Given the description of an element on the screen output the (x, y) to click on. 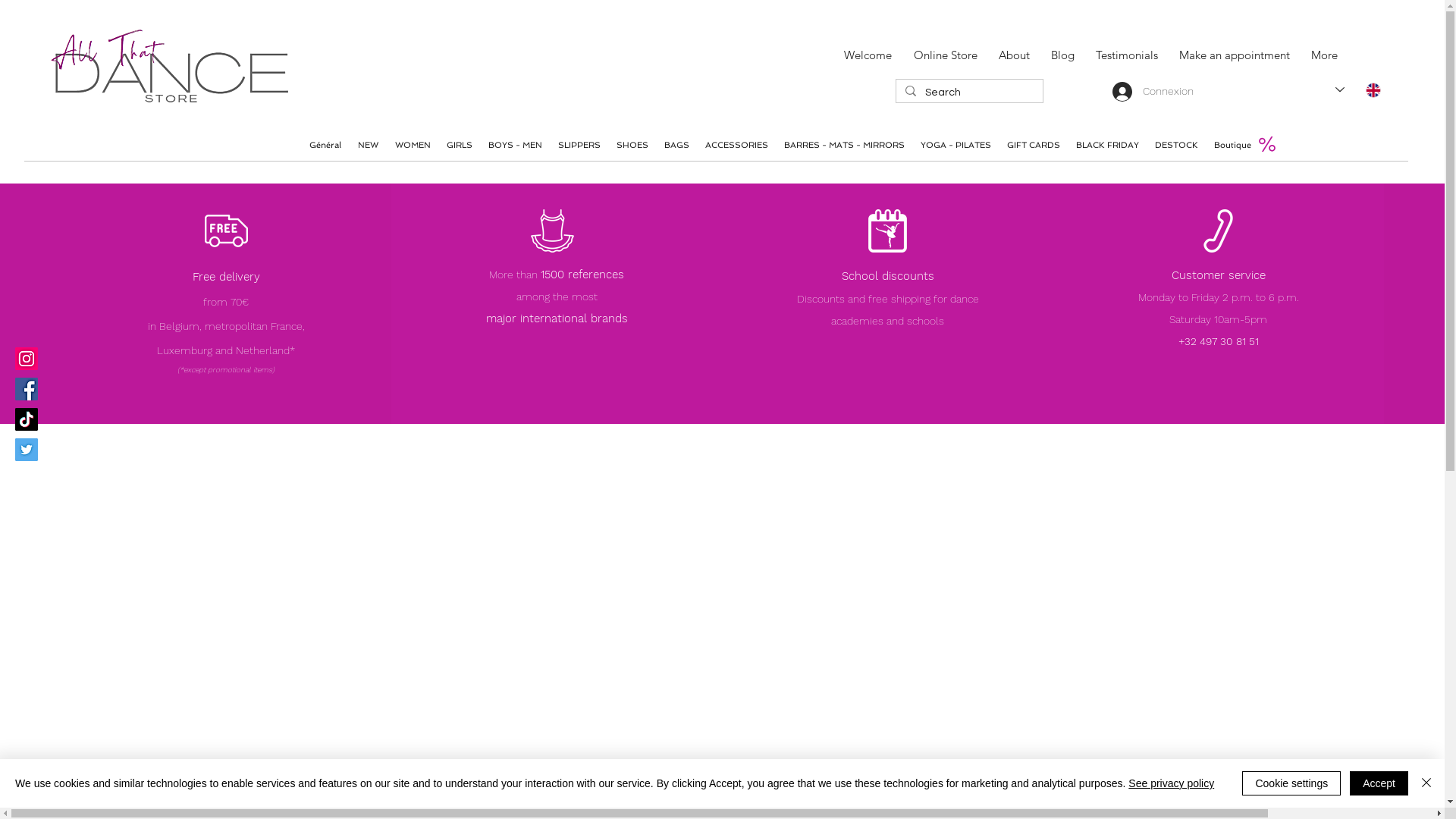
Pinterest balise Element type: hover (479, 92)
Accept Element type: text (1378, 783)
Wix Chat Element type: hover (1327, 774)
BAGS Element type: text (675, 145)
ACCESSORIES Element type: text (735, 145)
Testimonials Element type: text (1122, 55)
SHOES Element type: text (631, 145)
Connexion Element type: text (1152, 91)
Cookie settings Element type: text (1291, 783)
About Element type: text (1010, 55)
BLACK FRIDAY Element type: text (1106, 145)
GIFT CARDS Element type: text (1032, 145)
Welcome Element type: text (864, 55)
Online Store Element type: text (942, 55)
BARRES - MATS - MIRRORS Element type: text (843, 145)
Trustedsite Element type: hover (463, 40)
DESTOCK Element type: text (1175, 145)
Online Store Element type: hover (1260, 75)
BOYS - MEN Element type: text (514, 145)
NEW Element type: text (367, 145)
GIRLS Element type: text (459, 145)
Online Store Element type: hover (966, 463)
See privacy policy Element type: text (1171, 783)
Make an appointment Element type: text (1230, 55)
Embedded Content Element type: hover (401, 65)
google verification Element type: hover (779, 95)
Blog Element type: text (1059, 55)
SLIPPERS Element type: text (578, 145)
Embedded Content Element type: hover (887, 333)
Boutique Element type: text (1231, 145)
WOMEN Element type: text (412, 145)
YOGA - PILATES Element type: text (955, 145)
